Given the description of an element on the screen output the (x, y) to click on. 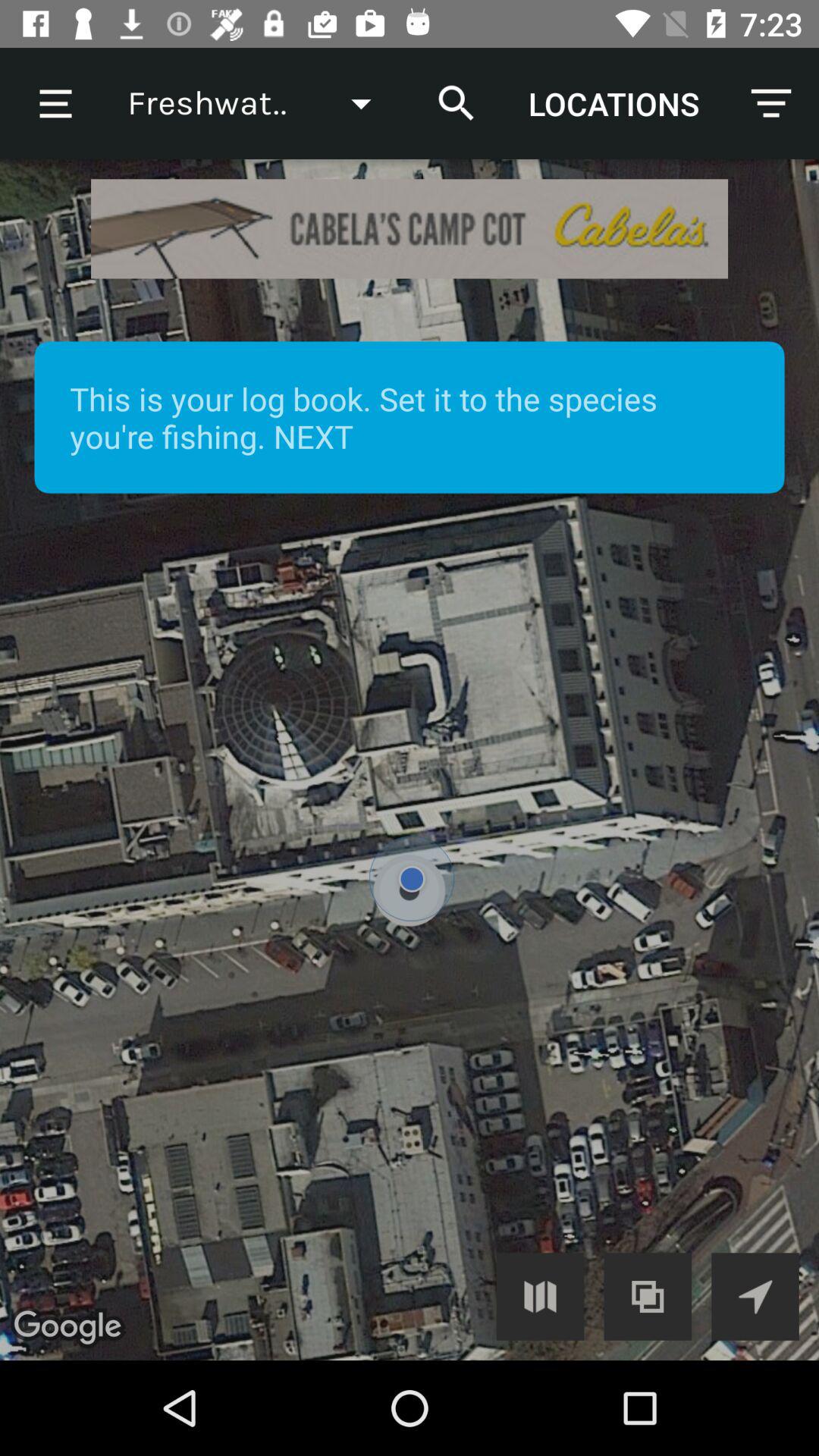
satellite map (409, 759)
